Given the description of an element on the screen output the (x, y) to click on. 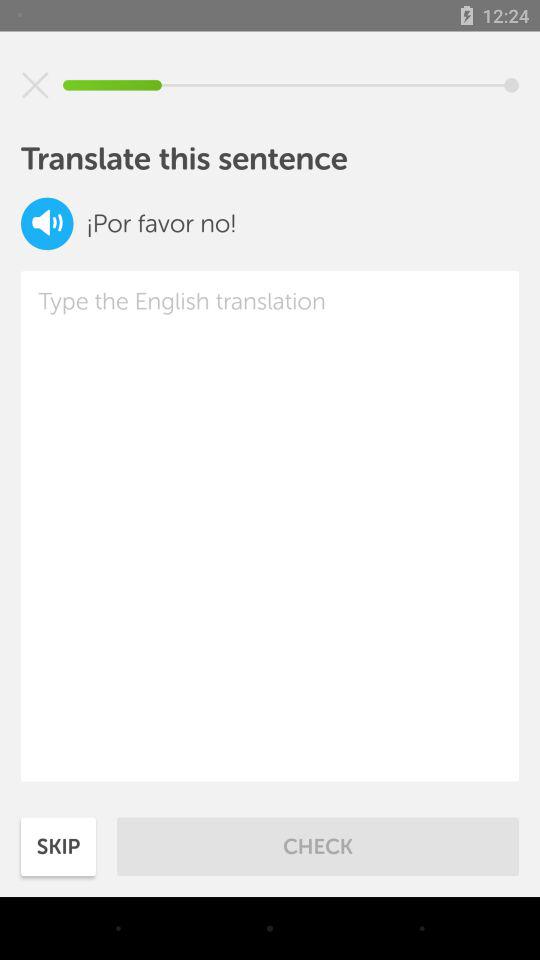
to speak out (47, 223)
